Given the description of an element on the screen output the (x, y) to click on. 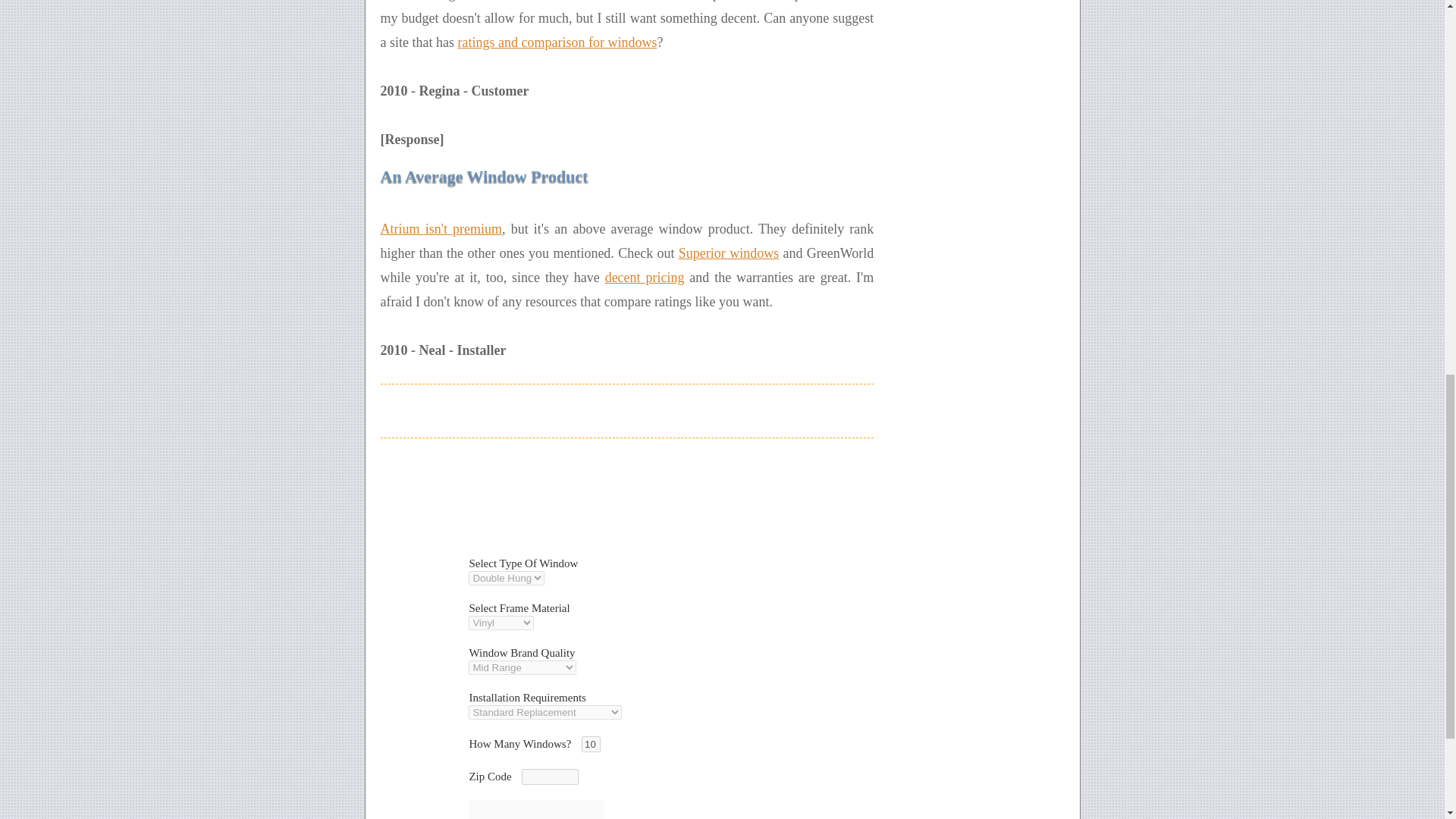
Superior windows (728, 253)
10 (589, 744)
ratings and comparison for windows (556, 42)
Atrium (543, 0)
Atrium isn't premium (441, 228)
decent pricing (644, 277)
